Given the description of an element on the screen output the (x, y) to click on. 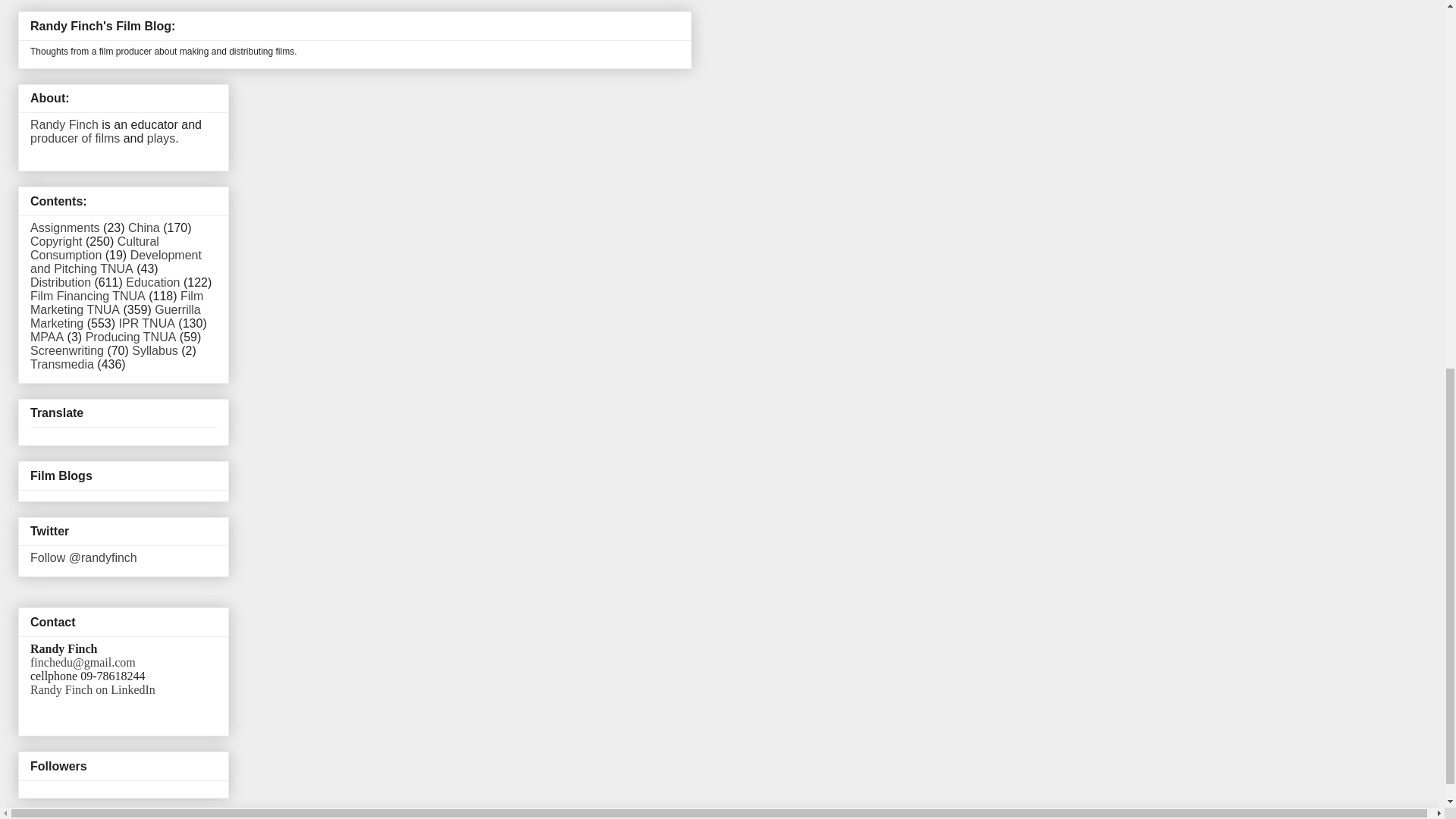
producer of films (74, 137)
Development and Pitching TNUA (116, 261)
Screenwriting (66, 350)
Film Marketing TNUA (116, 302)
Cultural Consumption (94, 248)
Copyright (55, 241)
Randy Finch on LinkedIn (92, 689)
Education (152, 282)
Randy Finch (64, 124)
China (144, 227)
Assignments (65, 227)
Film Financing TNUA (87, 295)
Distribution (60, 282)
Syllabus (154, 350)
Transmedia (62, 364)
